Given the description of an element on the screen output the (x, y) to click on. 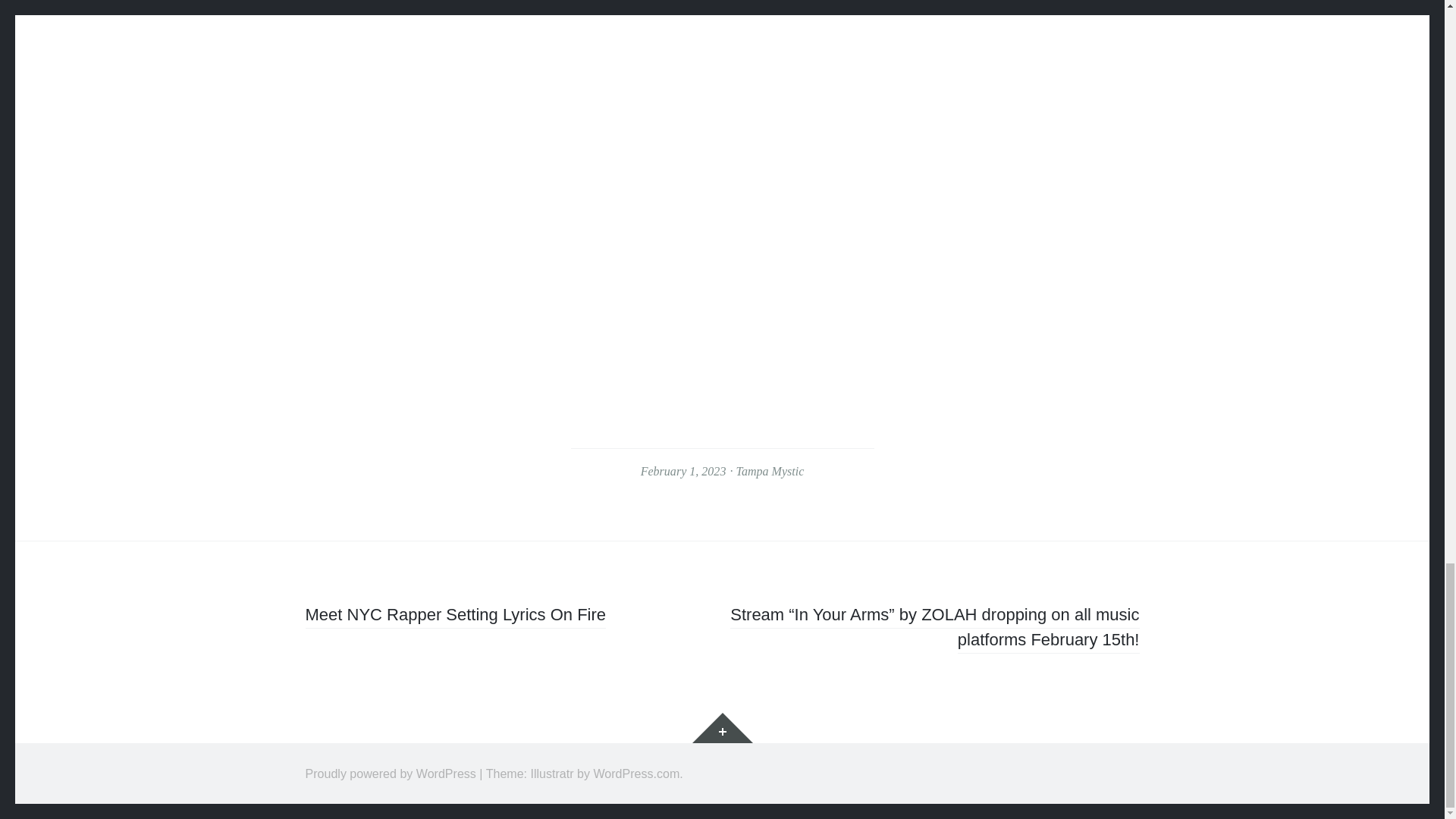
Tampa Mystic (769, 471)
February 1, 2023 (683, 471)
Widgets (721, 727)
Meet NYC Rapper Setting Lyrics On Fire (454, 616)
